Given the description of an element on the screen output the (x, y) to click on. 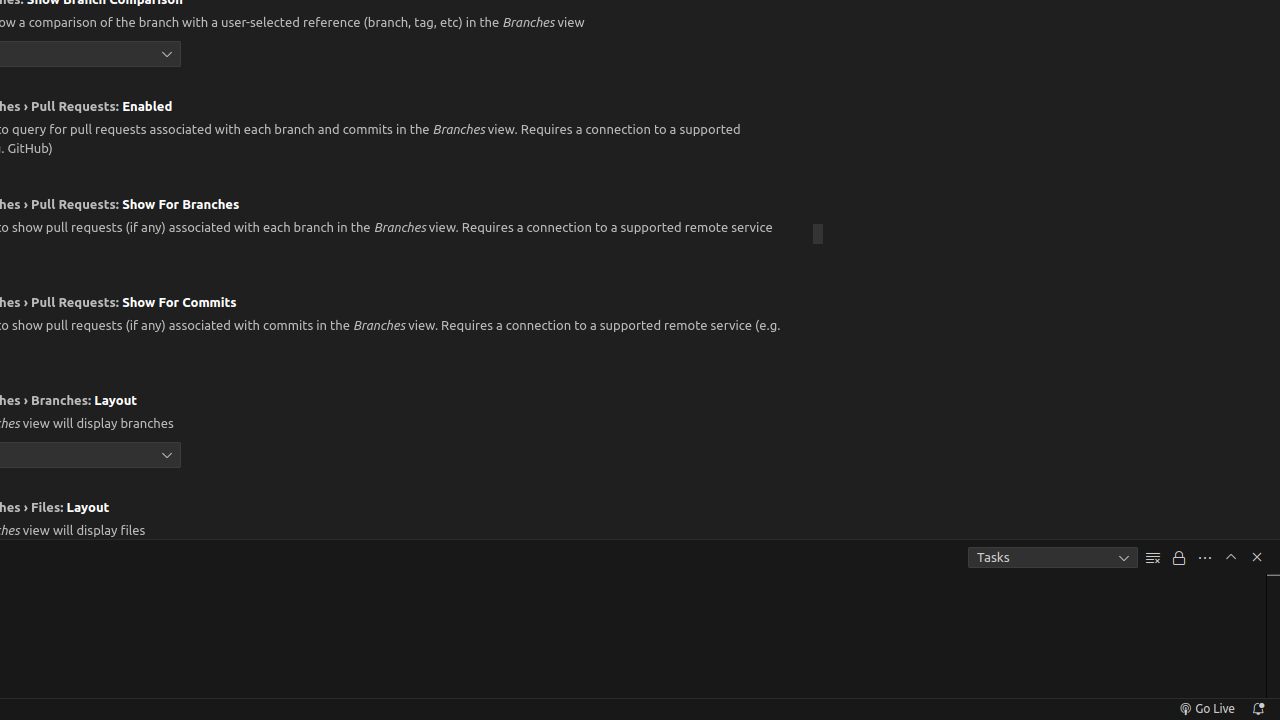
Notifications Element type: push-button (1258, 709)
Maximize Panel Size Element type: check-box (1231, 557)
broadcast Go Live, Click to run live server Element type: push-button (1206, 709)
